Given the description of an element on the screen output the (x, y) to click on. 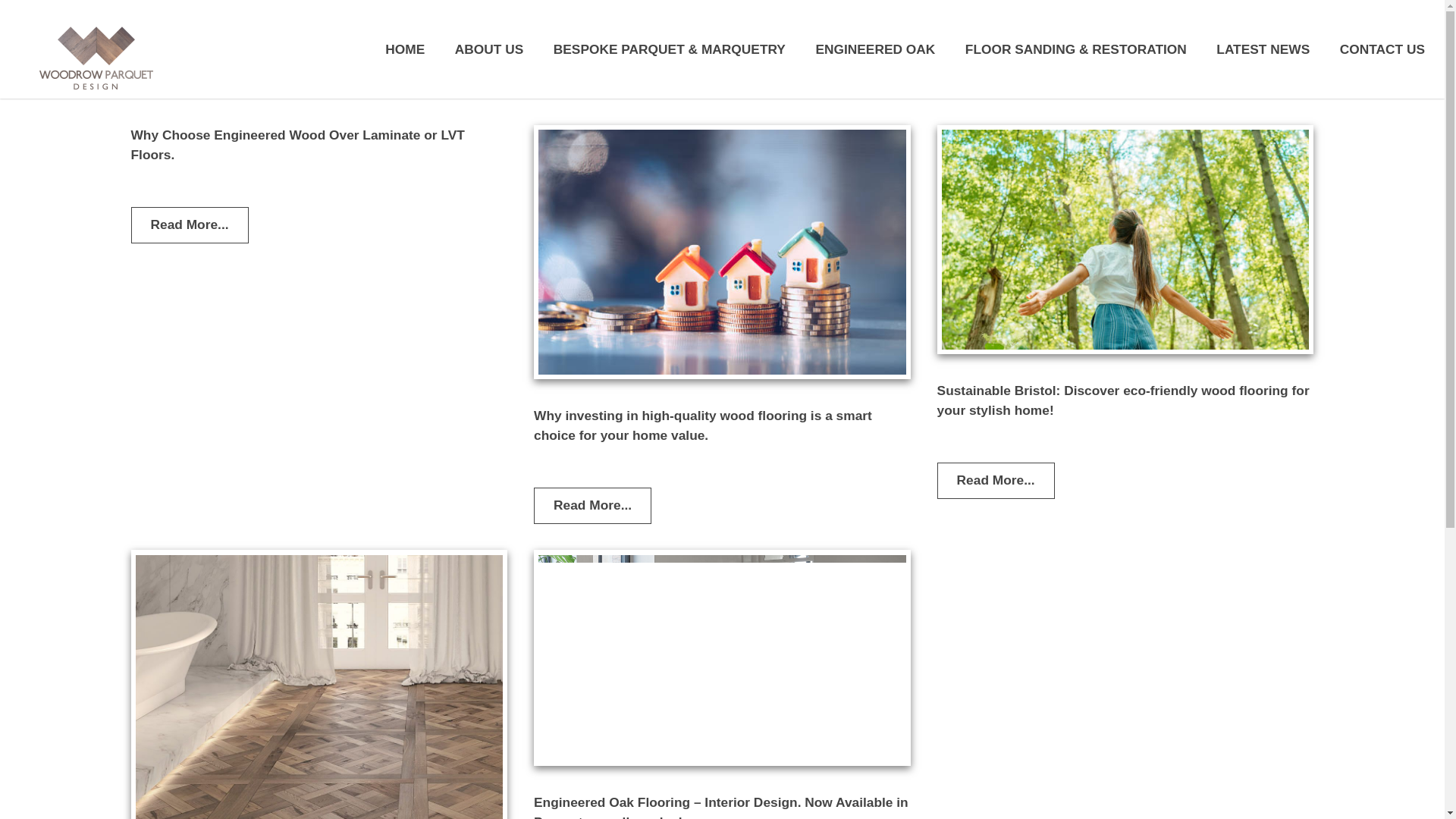
Read More... (189, 225)
ENGINEERED OAK (874, 48)
Read More... (995, 480)
HOME (405, 48)
ABOUT US (489, 48)
Read More... (592, 505)
LATEST NEWS (1261, 48)
CONTACT US (1382, 48)
